Given the description of an element on the screen output the (x, y) to click on. 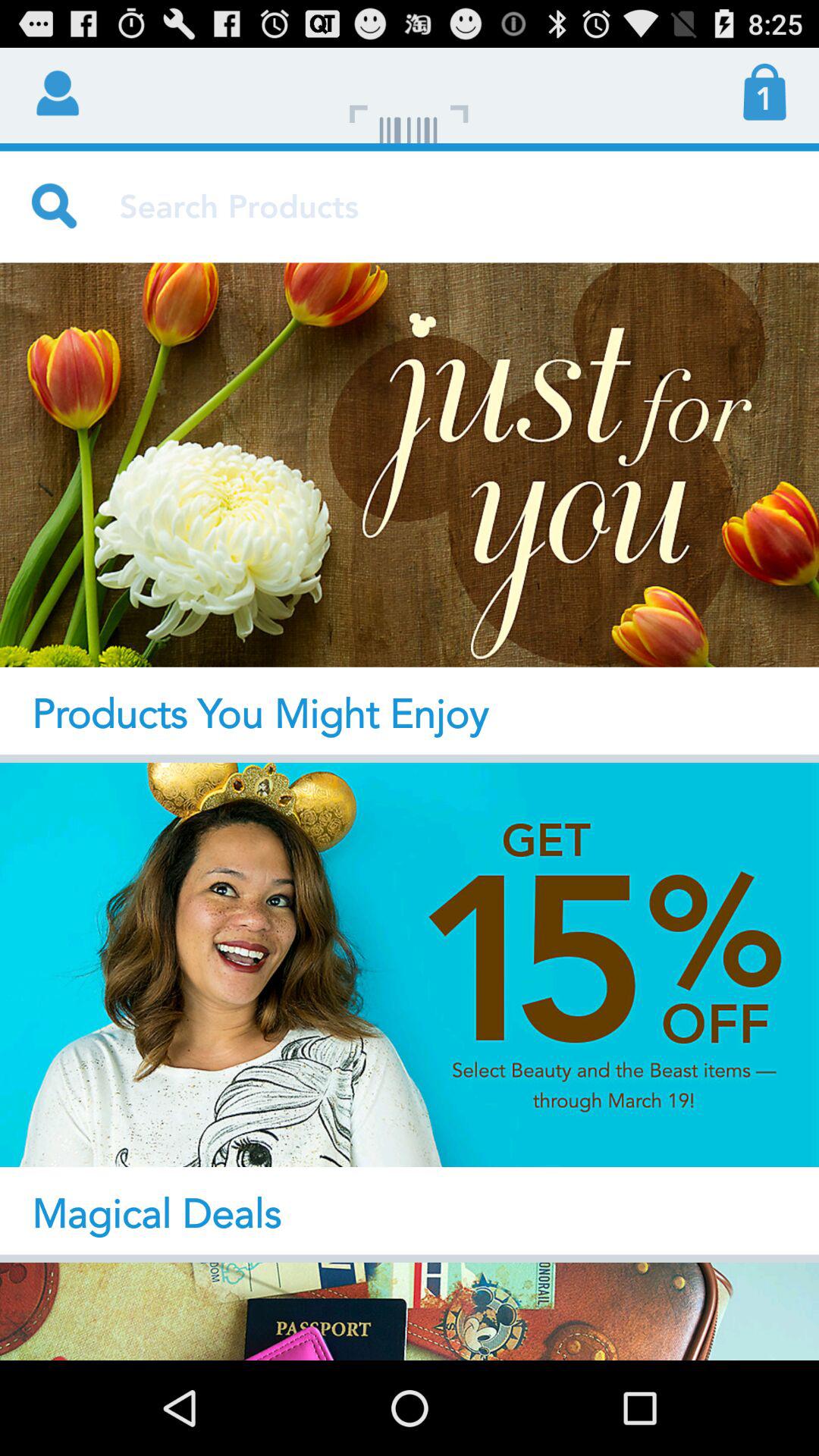
turn on the item to the left of 1 icon (409, 95)
